Given the description of an element on the screen output the (x, y) to click on. 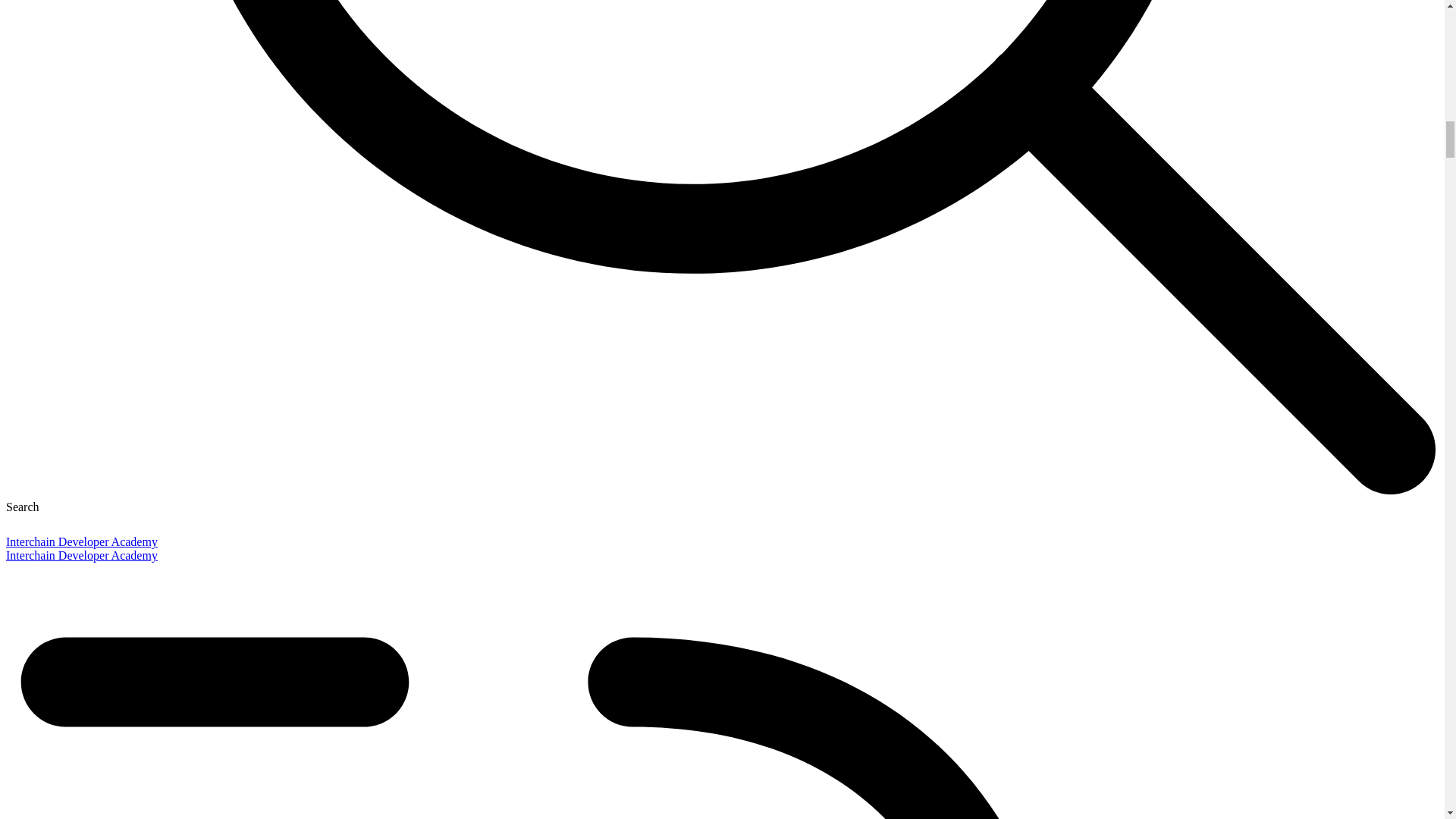
Interchain Developer Academy (81, 541)
Interchain Developer Academy (81, 554)
